Given the description of an element on the screen output the (x, y) to click on. 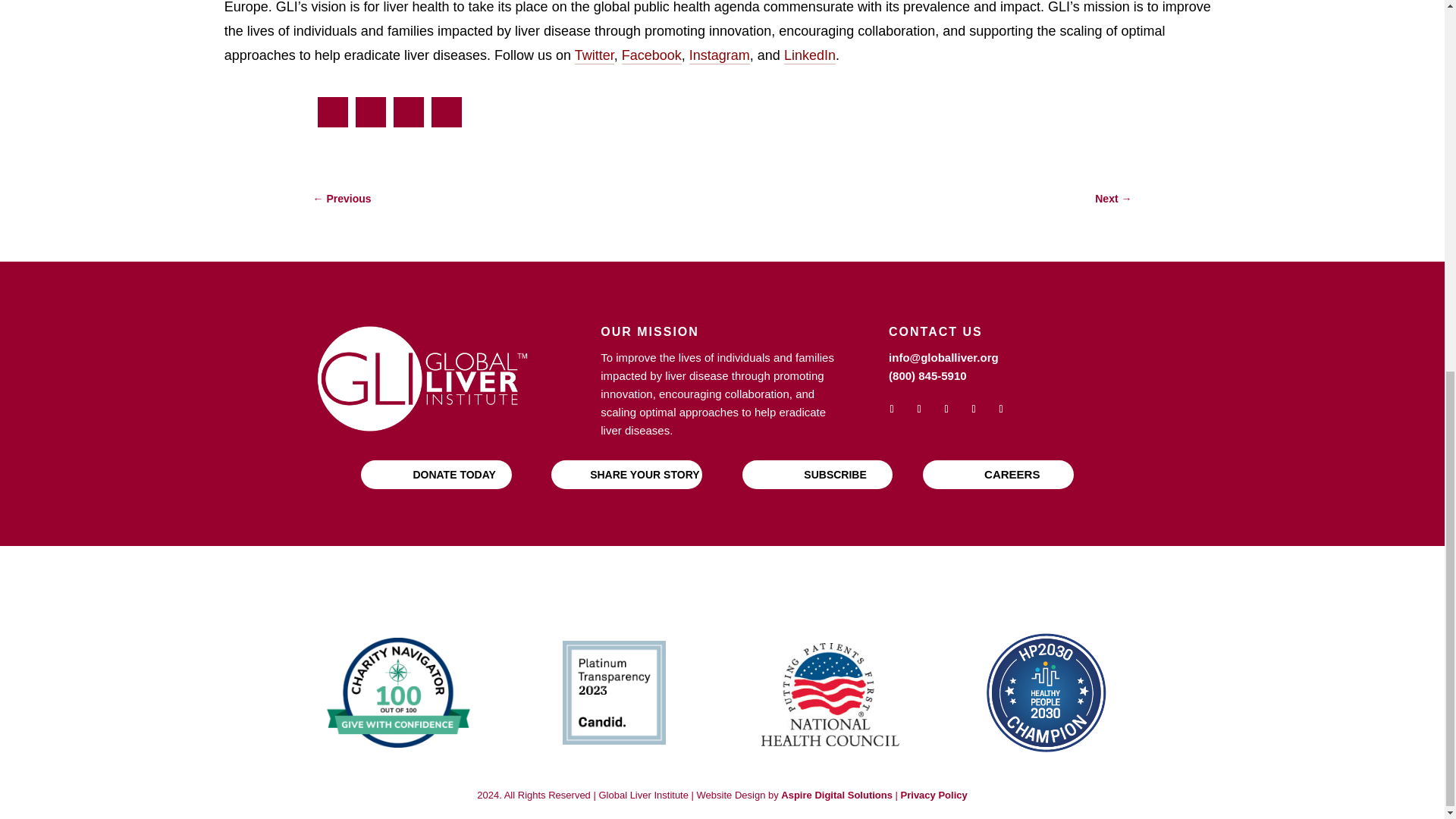
Follow on Youtube (946, 409)
Follow on Facebook (891, 409)
Follow on X (919, 409)
Follow on Instagram (973, 409)
RGB Bigger Tm White (422, 378)
